Given the description of an element on the screen output the (x, y) to click on. 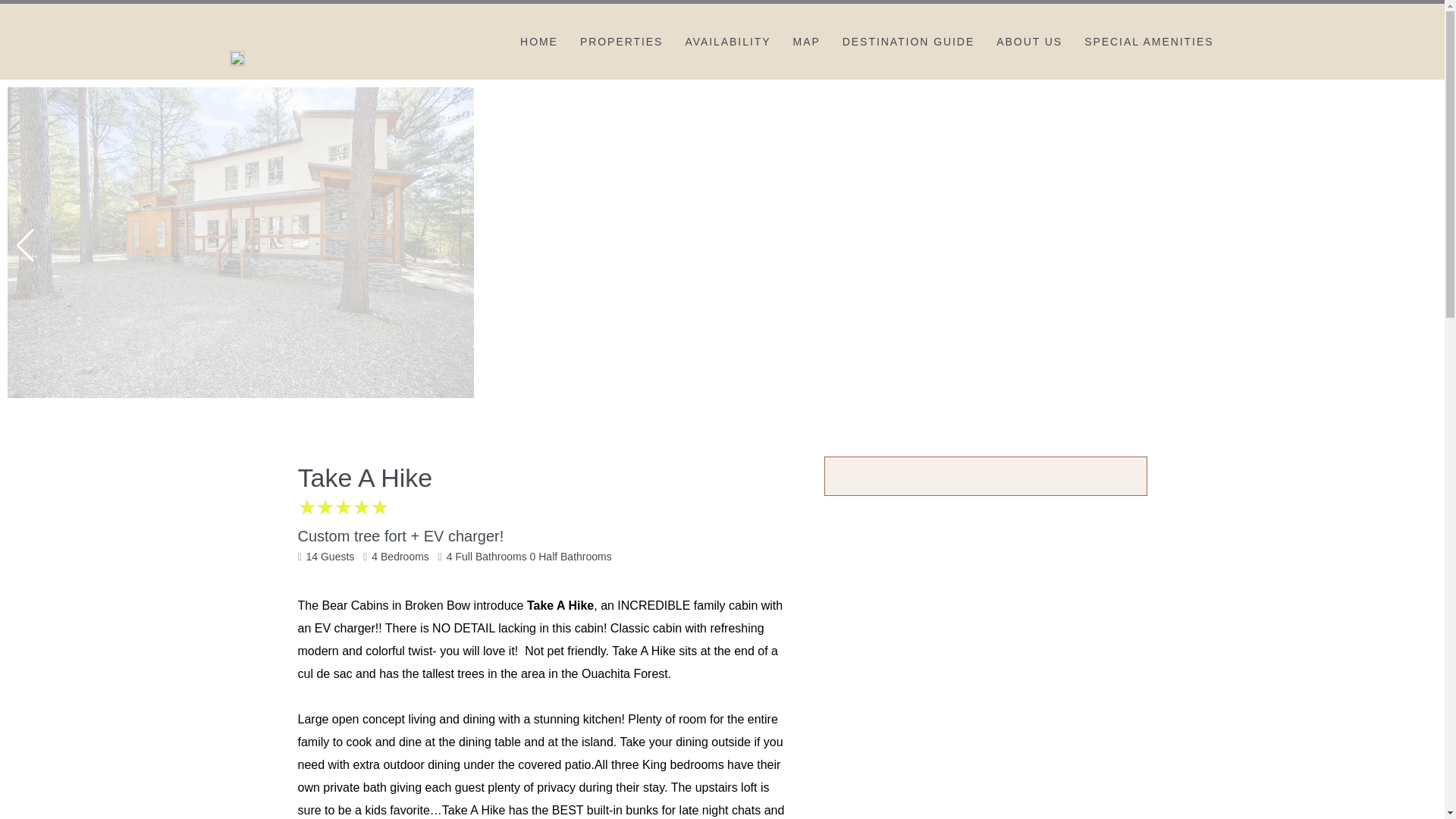
AVAILABILITY (726, 41)
PROPERTIES (621, 41)
